Given the description of an element on the screen output the (x, y) to click on. 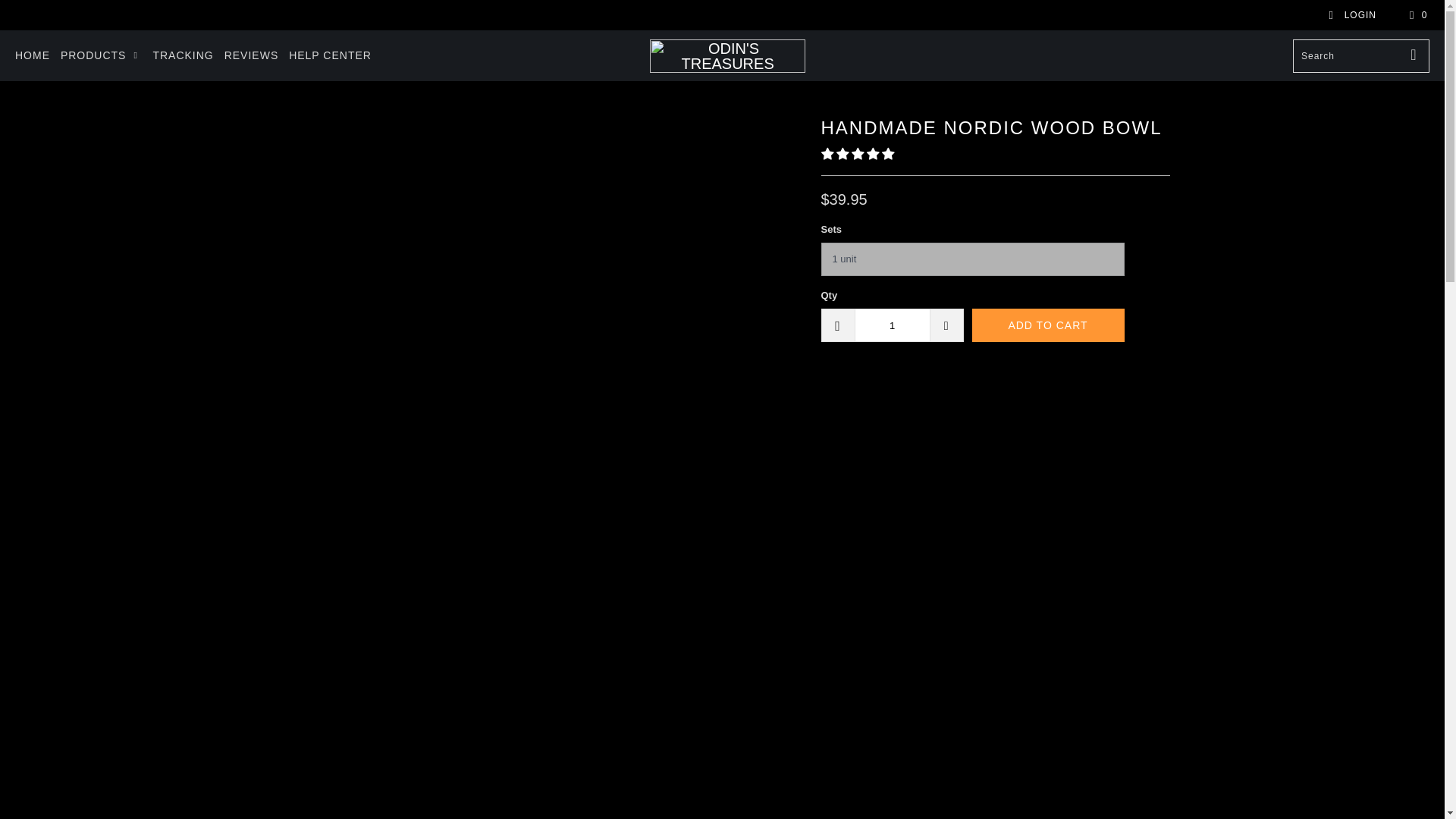
HELP CENTER (329, 55)
TRACKING (182, 55)
Odin's Treasures (727, 55)
My Account  (1351, 15)
1 (891, 325)
PRODUCTS (101, 55)
LOGIN (1351, 15)
REVIEWS (251, 55)
HOME (31, 55)
